Given the description of an element on the screen output the (x, y) to click on. 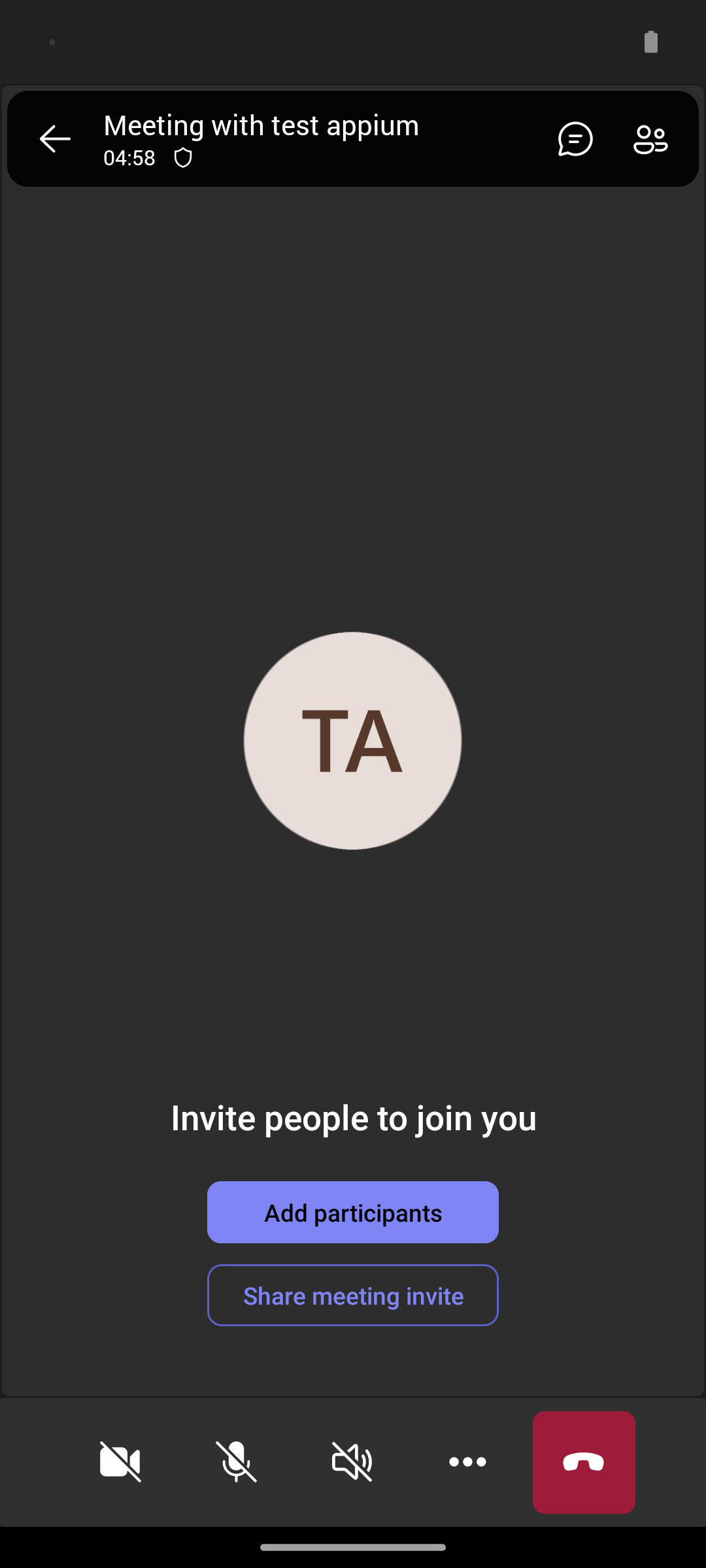
Back (55, 138)
Chat (570, 138)
Show participants (655, 138)
Add participants (352, 1211)
Share meeting invite (352, 1294)
Turn on camera (120, 1462)
Unmute (236, 1462)
Audio (352, 1462)
More options (468, 1462)
Hang up (584, 1462)
